Given the description of an element on the screen output the (x, y) to click on. 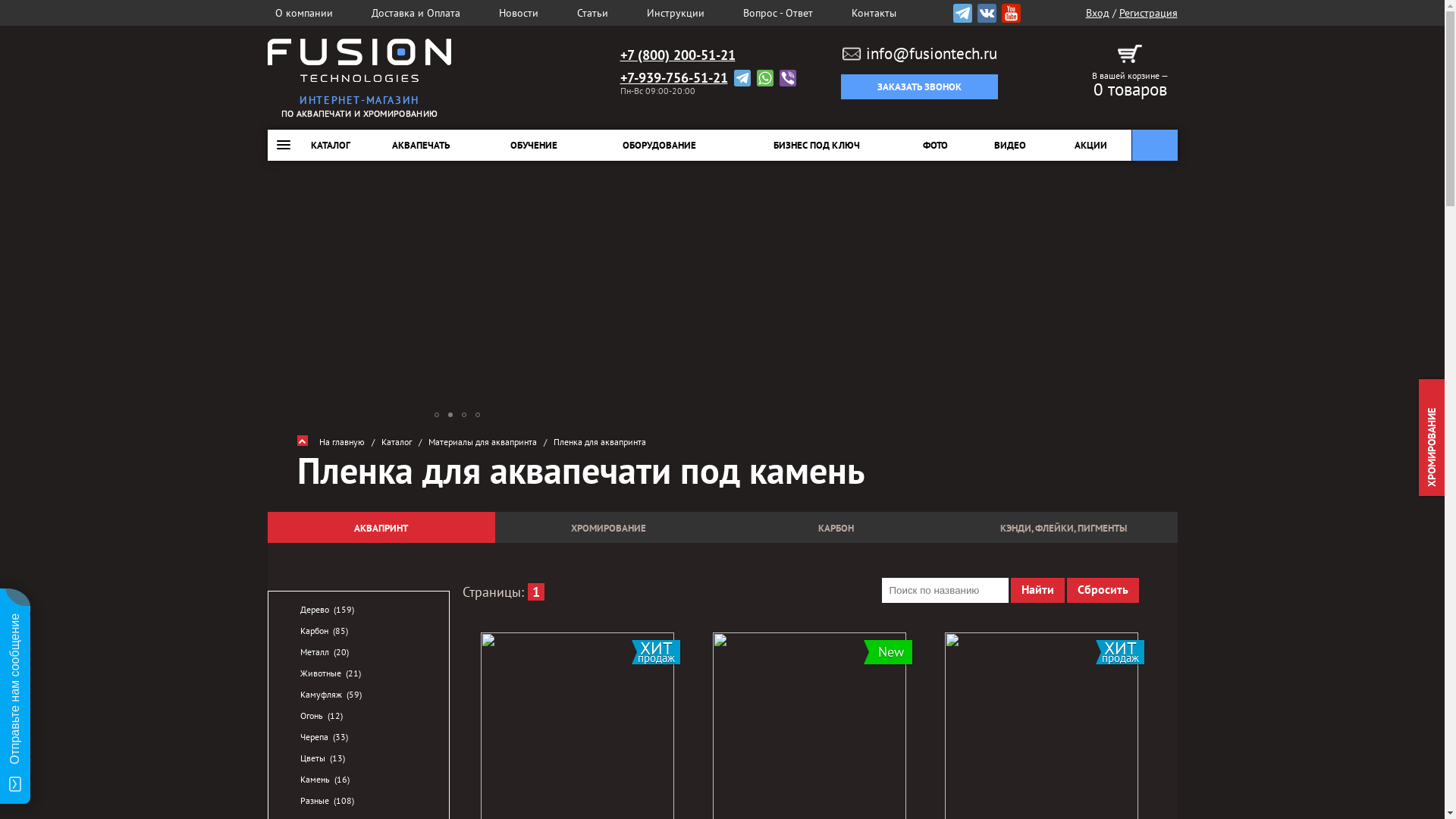
info@fusiontech.ru Element type: text (919, 53)
+7 (800) 200-51-21 Element type: text (677, 55)
+7-939-756-51-21 Element type: text (674, 77)
